Given the description of an element on the screen output the (x, y) to click on. 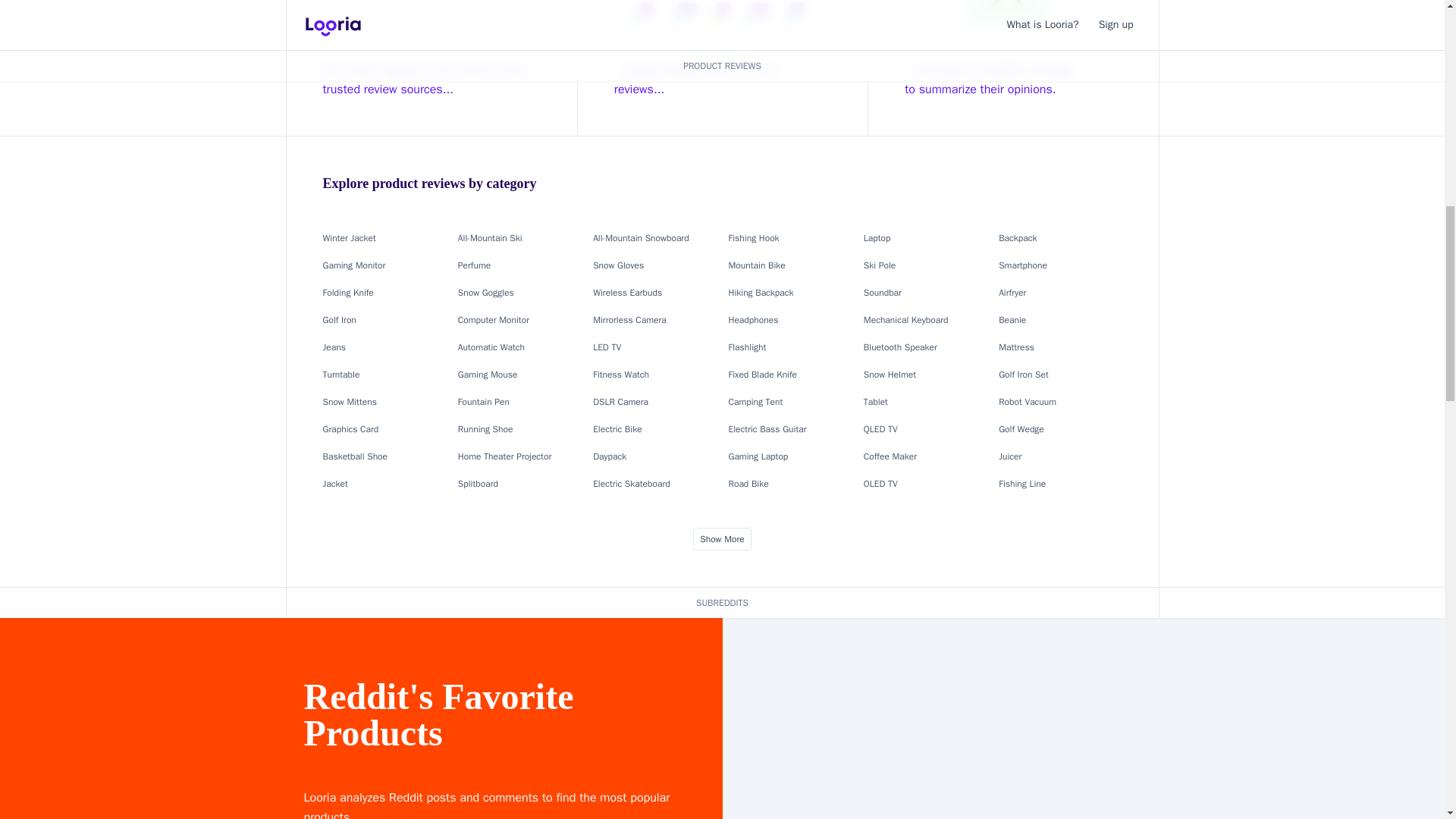
All-Mountain Snowboard (640, 237)
Folding Knife (348, 292)
Snow Goggles (485, 292)
Airfryer (1012, 292)
All-Mountain Ski (490, 237)
Perfume (474, 265)
Bluetooth Speaker (900, 346)
Hiking Backpack (760, 292)
Mattress (1015, 346)
Gaming Mouse (488, 374)
